Given the description of an element on the screen output the (x, y) to click on. 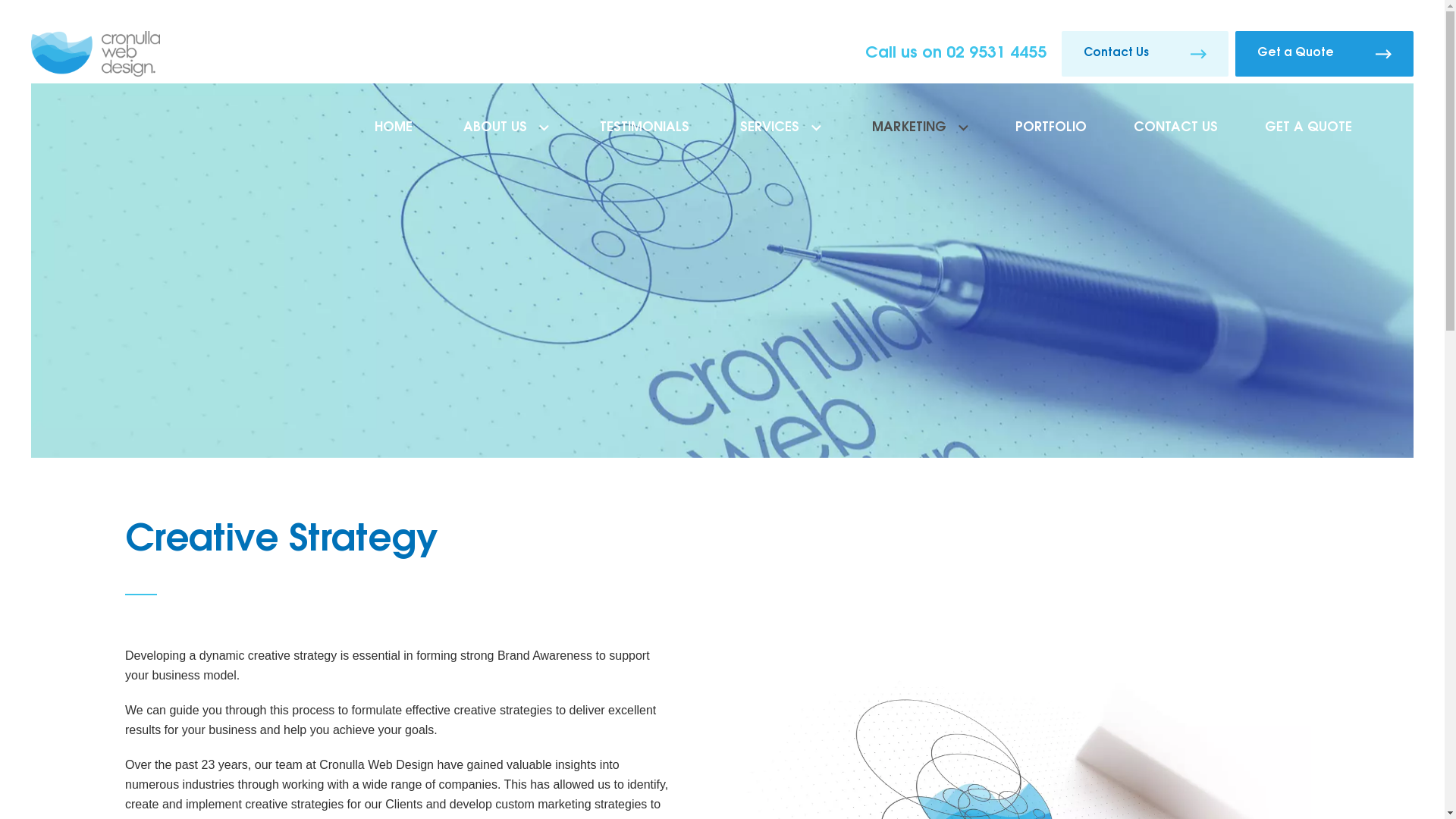
 SERVICES Element type: text (778, 138)
Get a Quote Element type: text (1324, 53)
Cronulla Web Design - Logo - Branding Element type: hover (95, 53)
 HOME Element type: text (391, 138)
CONTACT US Element type: text (1175, 138)
PORTFOLIO Element type: text (1050, 138)
02 9531 4455 Element type: text (996, 53)
 TESTIMONIALS Element type: text (642, 138)
 MARKETING Element type: text (918, 138)
Contact Us Element type: text (1144, 53)
GET A QUOTE Element type: text (1308, 138)
 ABOUT US Element type: text (504, 138)
